Given the description of an element on the screen output the (x, y) to click on. 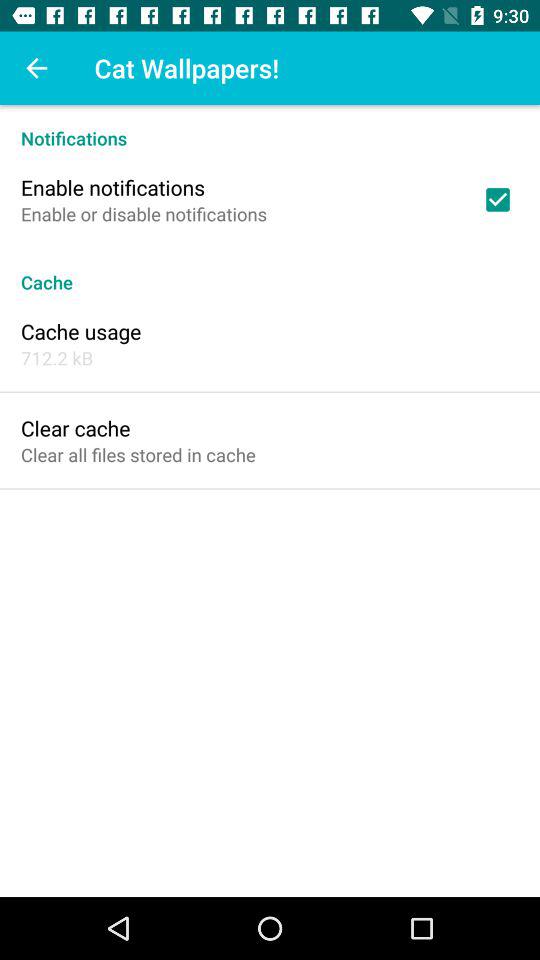
open the item below the cache icon (81, 331)
